Given the description of an element on the screen output the (x, y) to click on. 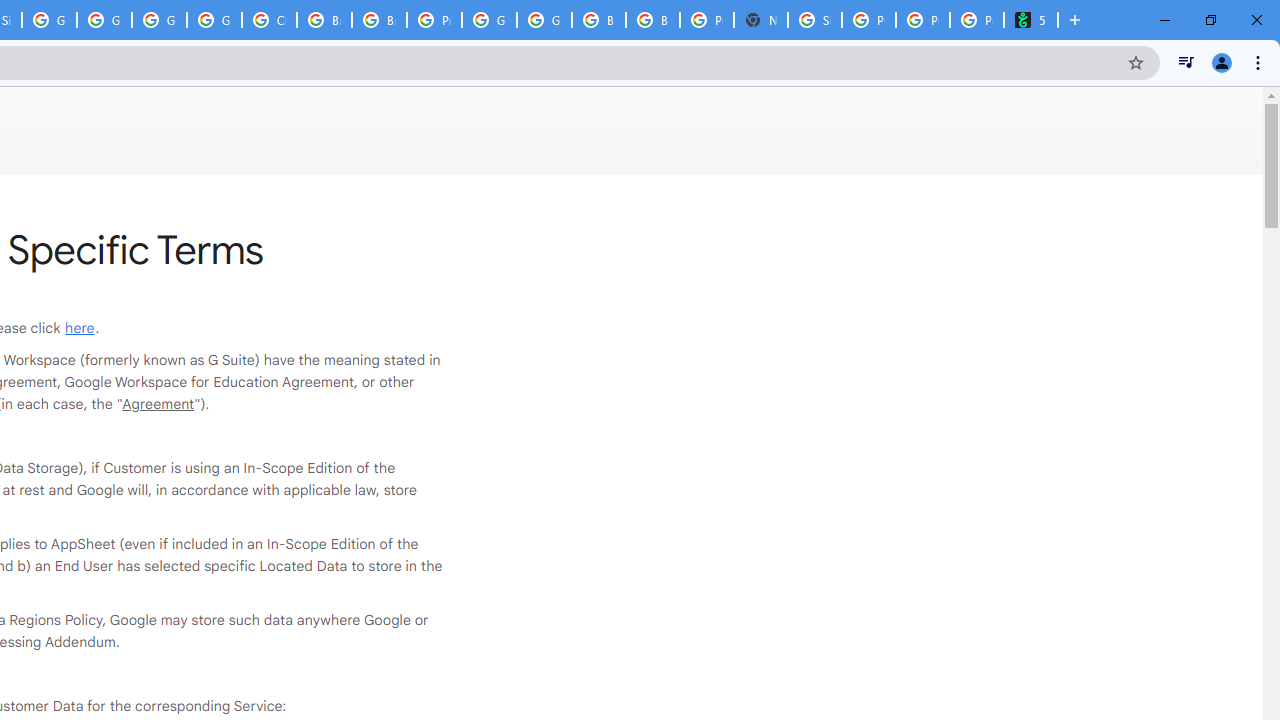
Restore (1210, 20)
Browse Chrome as a guest - Computer - Google Chrome Help (324, 20)
Google Cloud Platform (158, 20)
here (79, 327)
Close (1256, 20)
Browse Chrome as a guest - Computer - Google Chrome Help (379, 20)
New Tab (1075, 20)
Control your music, videos, and more (1185, 62)
